Given the description of an element on the screen output the (x, y) to click on. 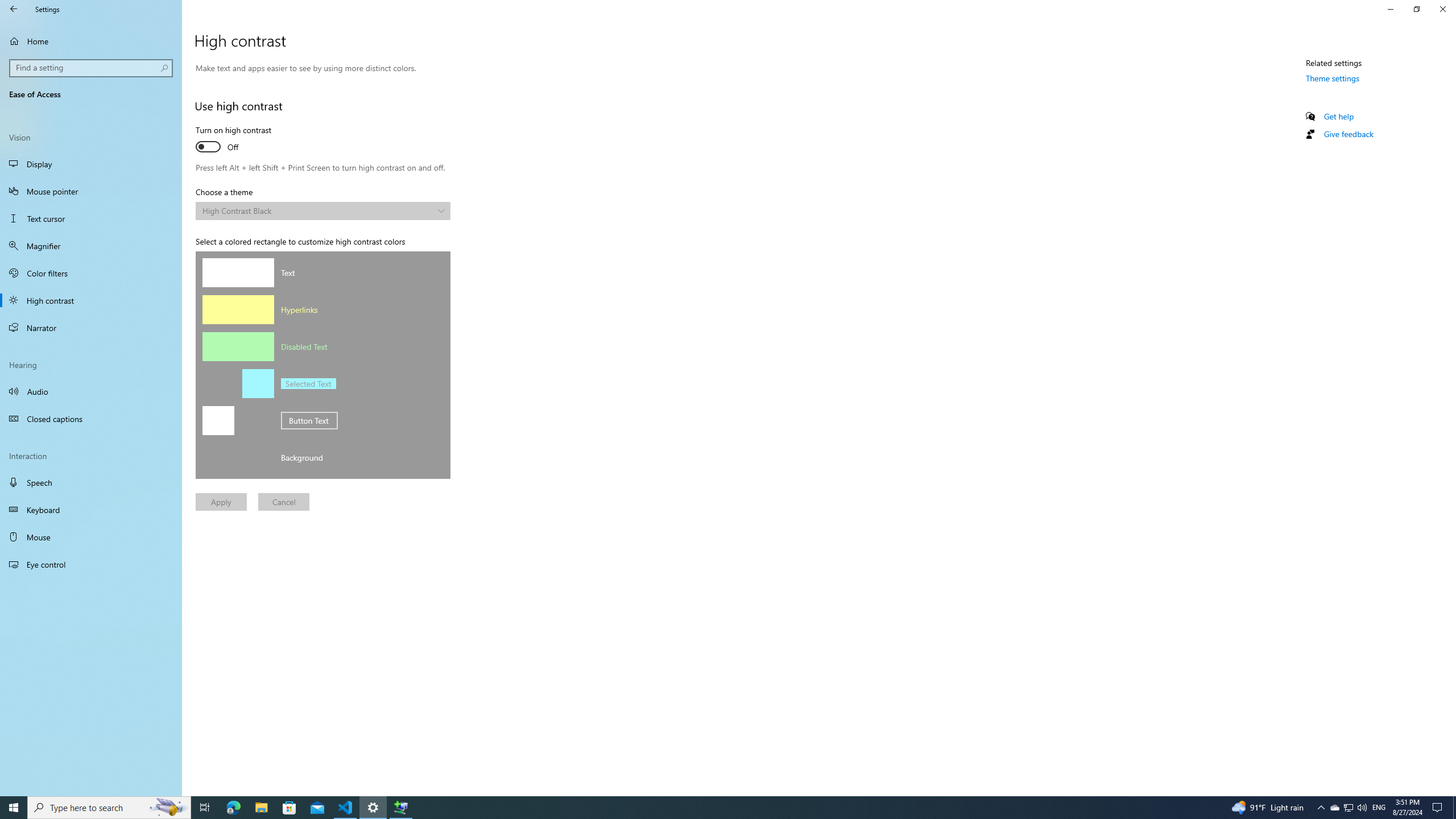
Q2790: 100% (1361, 807)
Mouse pointer (91, 190)
Keyboard (91, 509)
Search highlights icon opens search home window (167, 807)
Closed captions (91, 418)
Running applications (706, 807)
Text color (237, 272)
Give feedback (1348, 133)
Eye control (91, 564)
Hyperlink text color (237, 309)
File Explorer (261, 807)
Back (13, 9)
Color filters (91, 272)
